Given the description of an element on the screen output the (x, y) to click on. 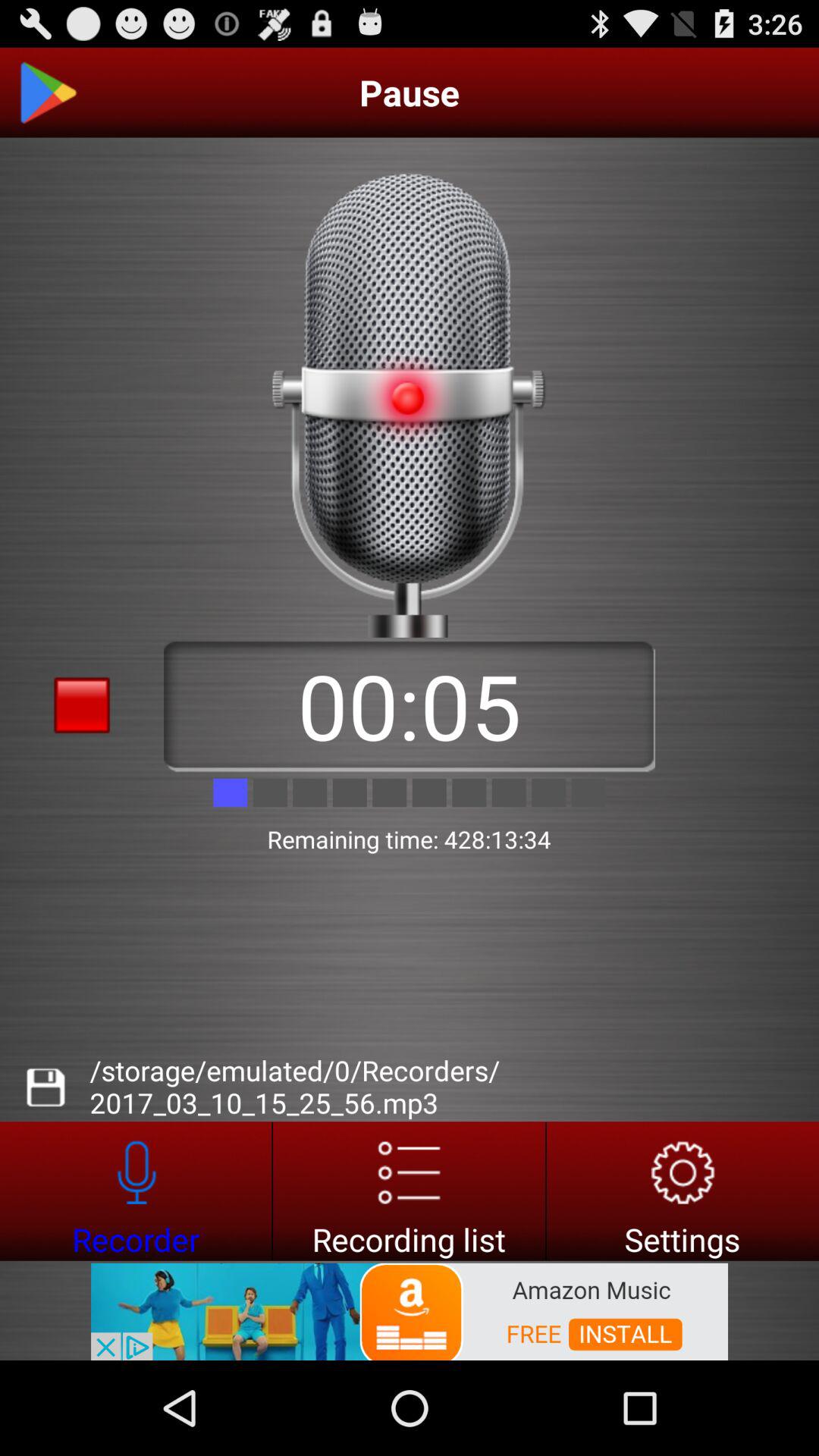
close advertisement banner (81, 1335)
